Given the description of an element on the screen output the (x, y) to click on. 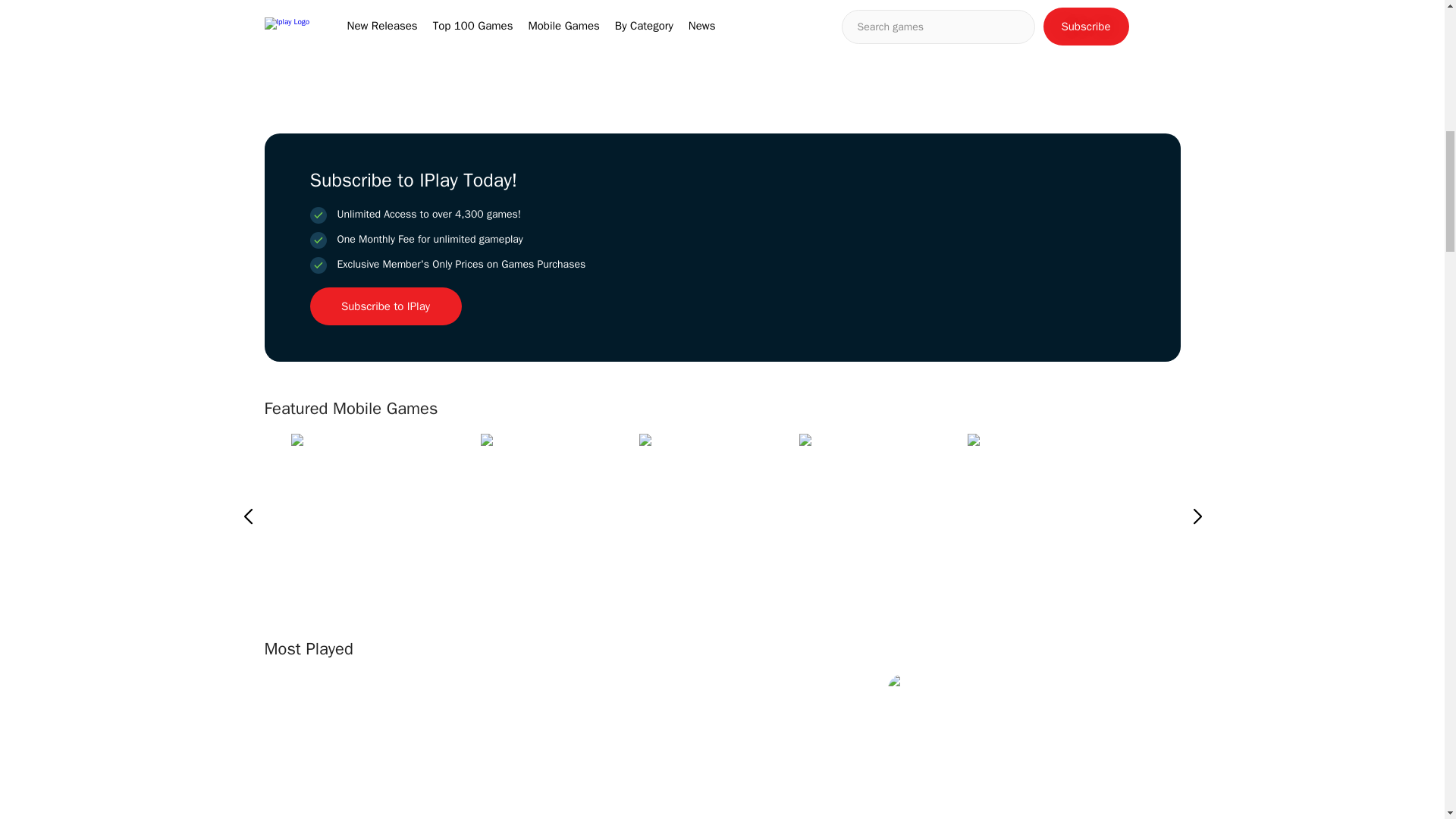
Subscribe to IPlay (384, 306)
